Given the description of an element on the screen output the (x, y) to click on. 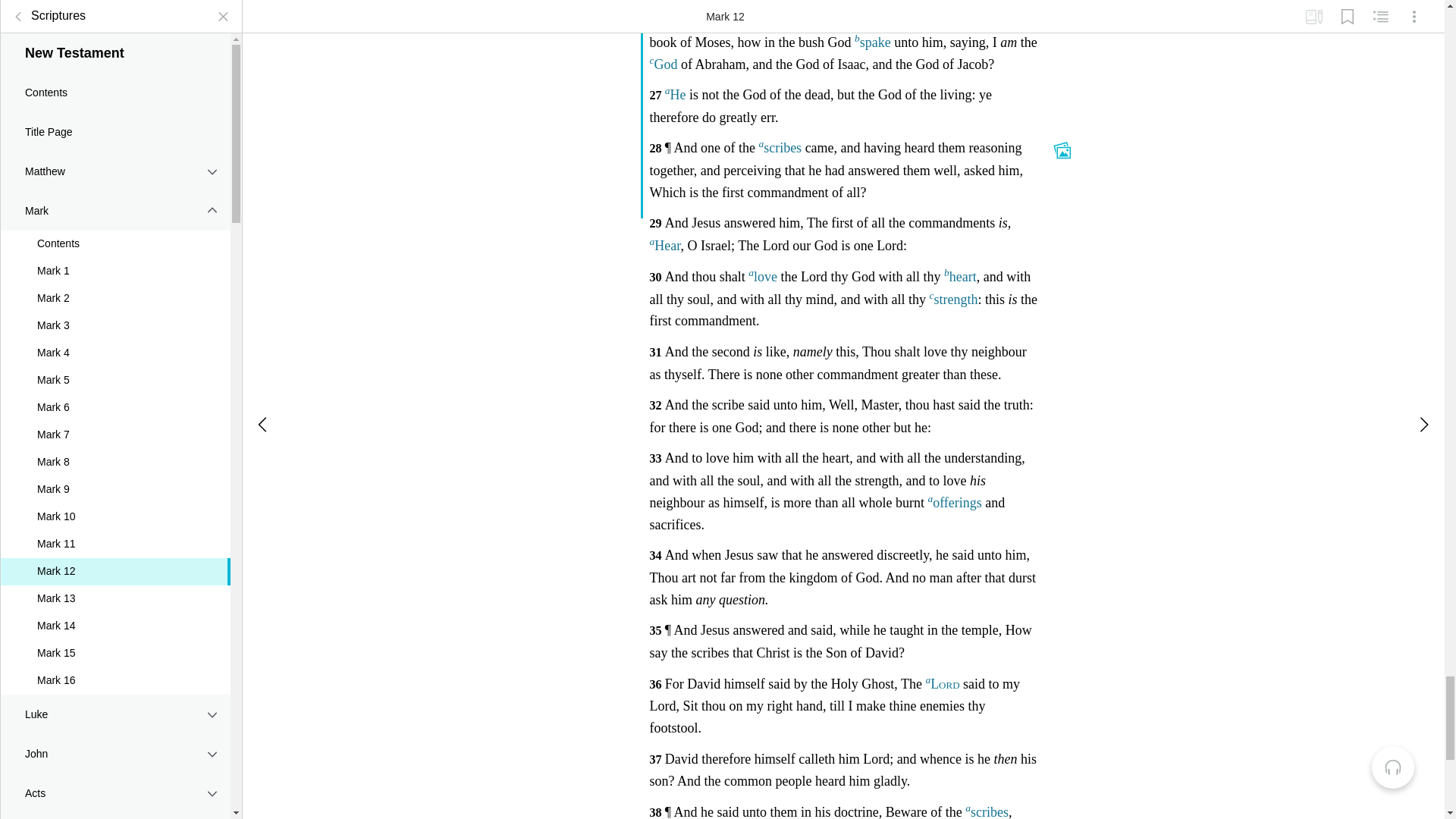
Associated Content (1061, 147)
